Given the description of an element on the screen output the (x, y) to click on. 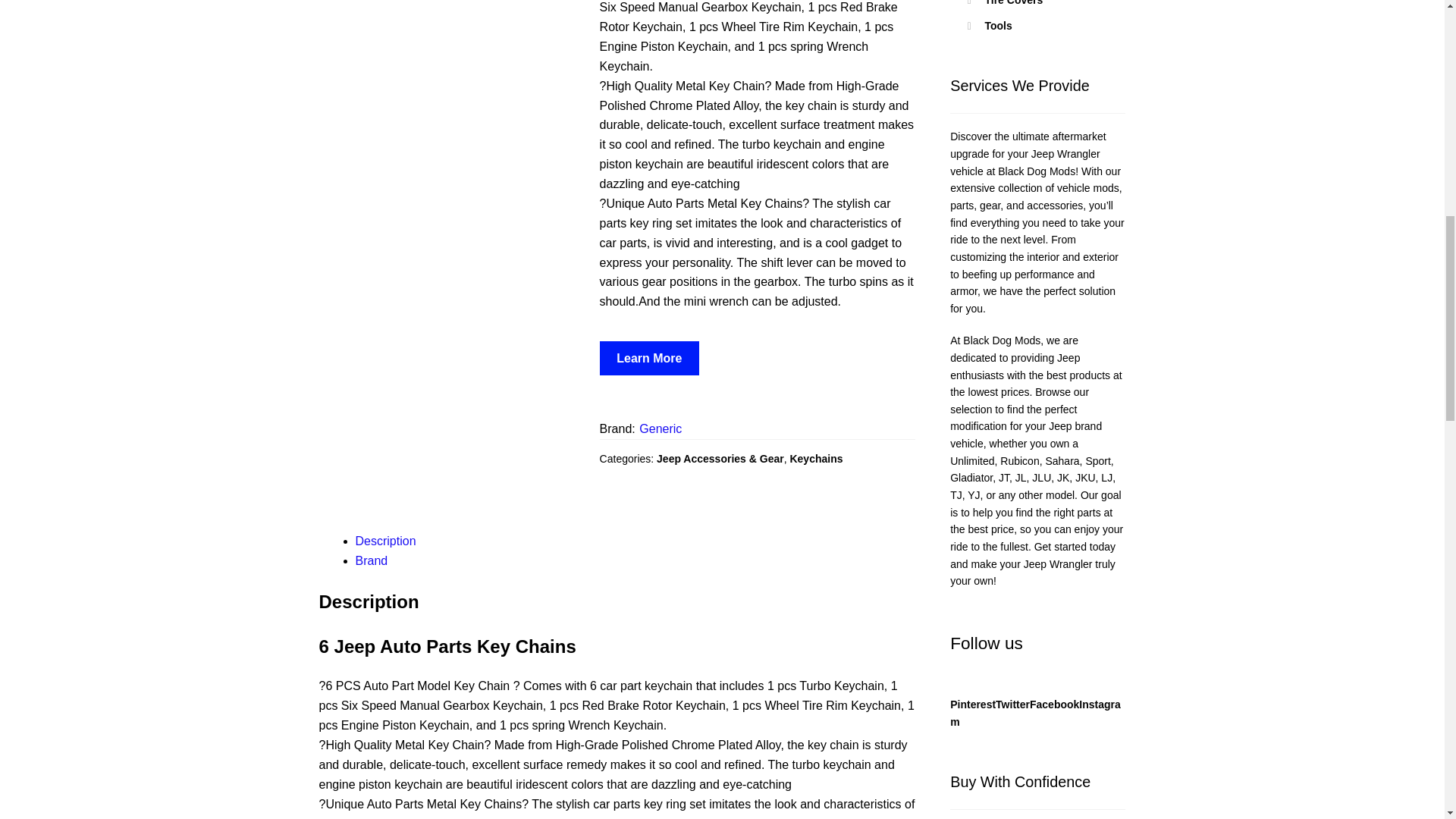
Twitter (1012, 704)
Description (385, 540)
View brand (660, 428)
Keychains (816, 458)
Learn More (649, 358)
Pinterest (972, 704)
Facebook (1053, 704)
Generic (660, 428)
Brand (371, 559)
Instagram (1035, 713)
